Given the description of an element on the screen output the (x, y) to click on. 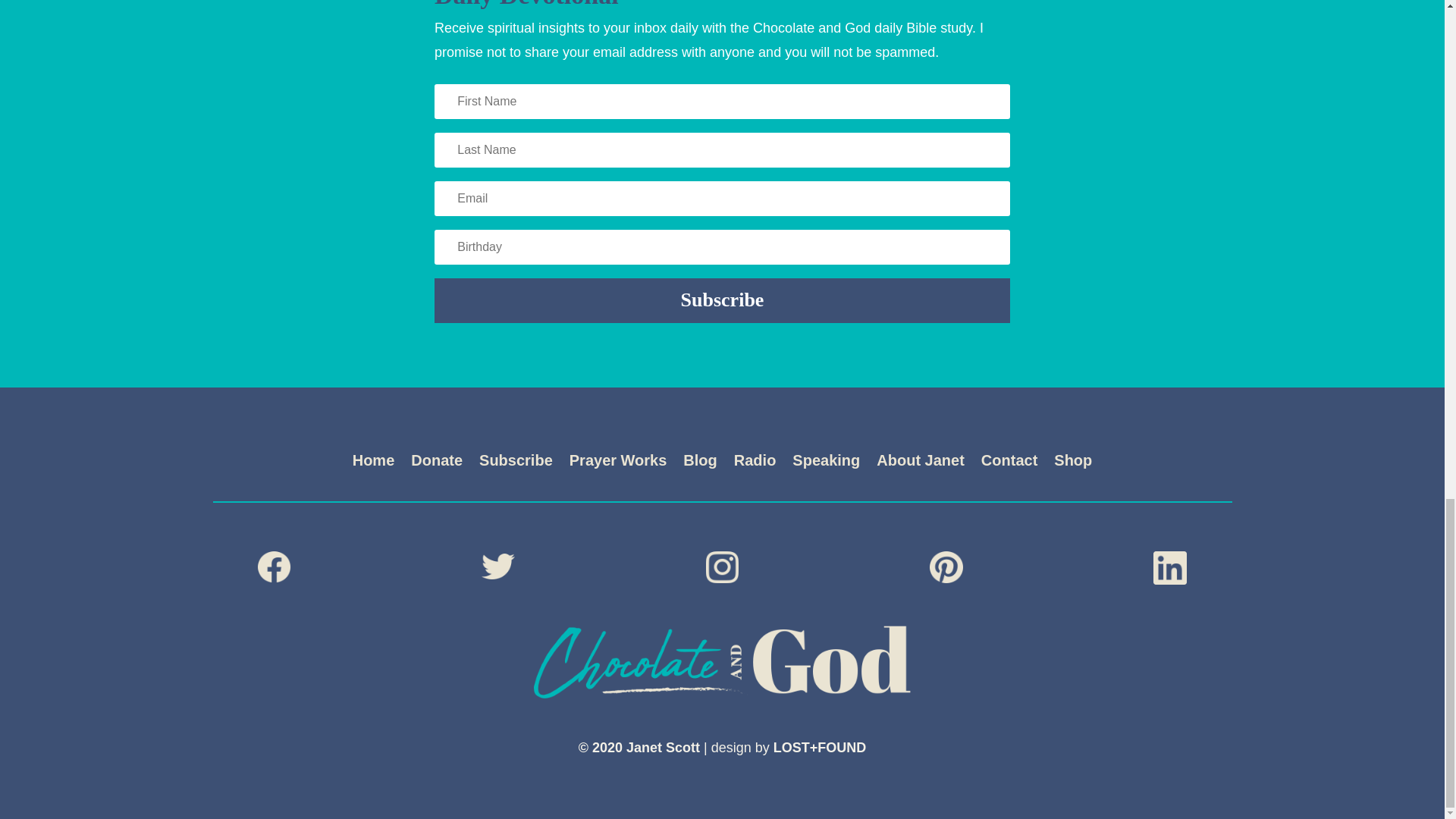
linkedin-footer-icon (1169, 567)
Donate (436, 463)
logo-footer (722, 661)
facebok-footer-icon (274, 567)
Blog (699, 463)
Prayer Works (617, 463)
pinterest-footer-icon (946, 567)
instagram-footer-icon (722, 567)
Home (373, 463)
twitter-footer-icon (498, 566)
Subscribe (721, 300)
Subscribe (516, 463)
